Given the description of an element on the screen output the (x, y) to click on. 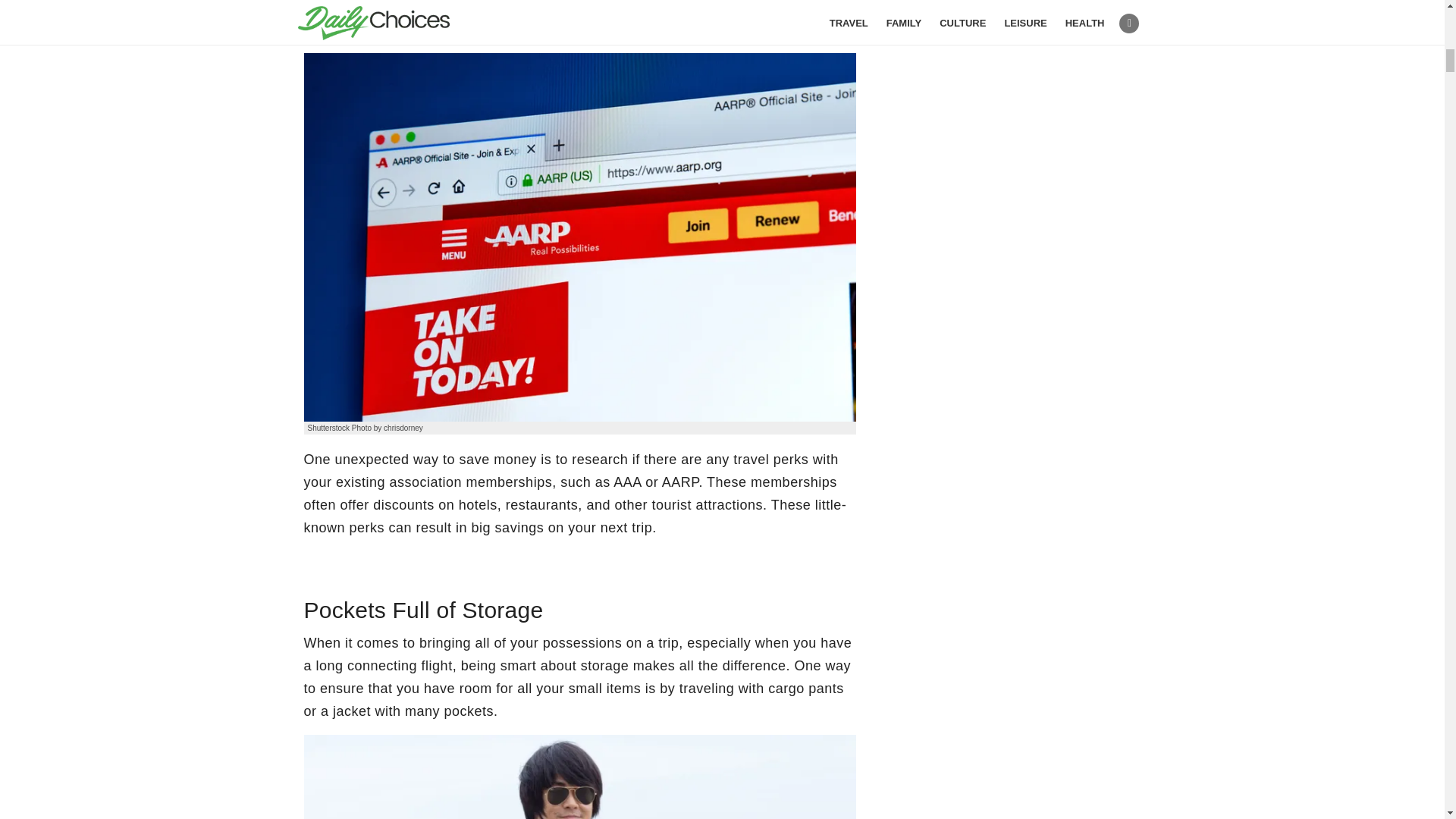
Pockets Full of Storage (579, 776)
